Given the description of an element on the screen output the (x, y) to click on. 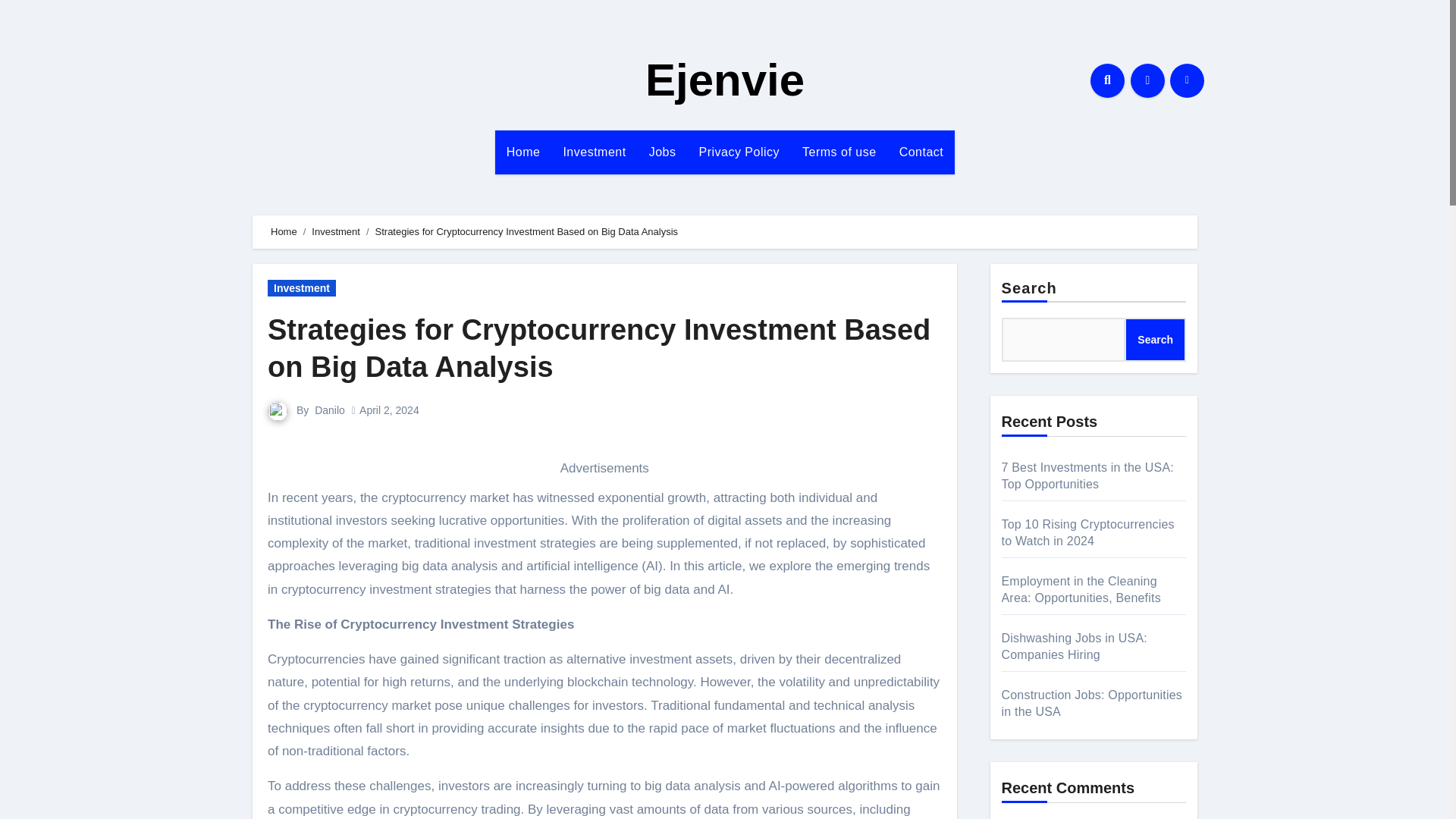
Contact (921, 152)
Terms of use (839, 152)
Privacy Policy (738, 152)
Home (283, 231)
Danilo (329, 410)
Ejenvie (725, 79)
April 2, 2024 (389, 410)
Home (523, 152)
